Given the description of an element on the screen output the (x, y) to click on. 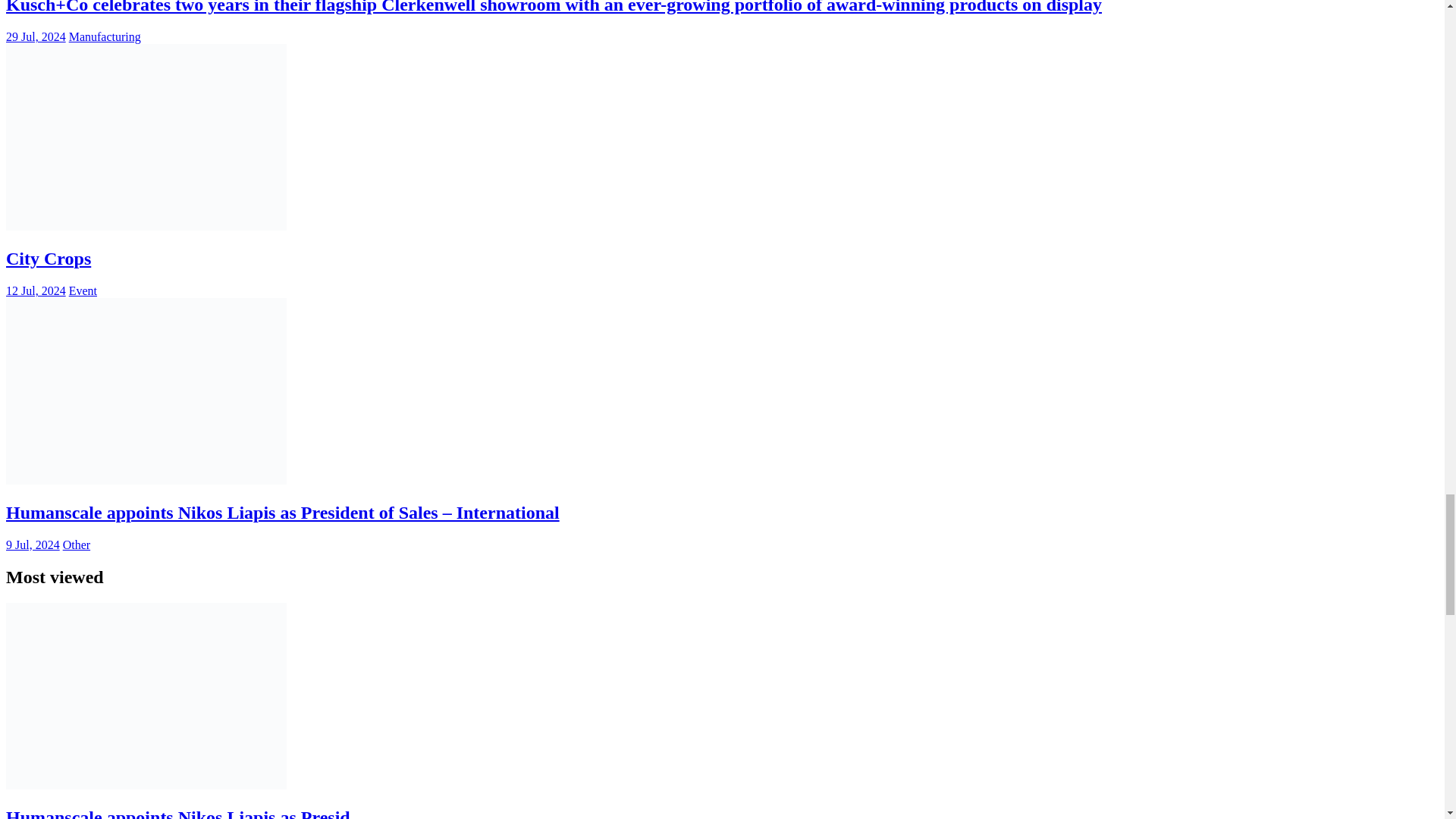
City Crops (47, 258)
12 Jul, 2024 (35, 290)
Manufacturing (104, 36)
Event (82, 290)
29 Jul, 2024 (35, 36)
